Given the description of an element on the screen output the (x, y) to click on. 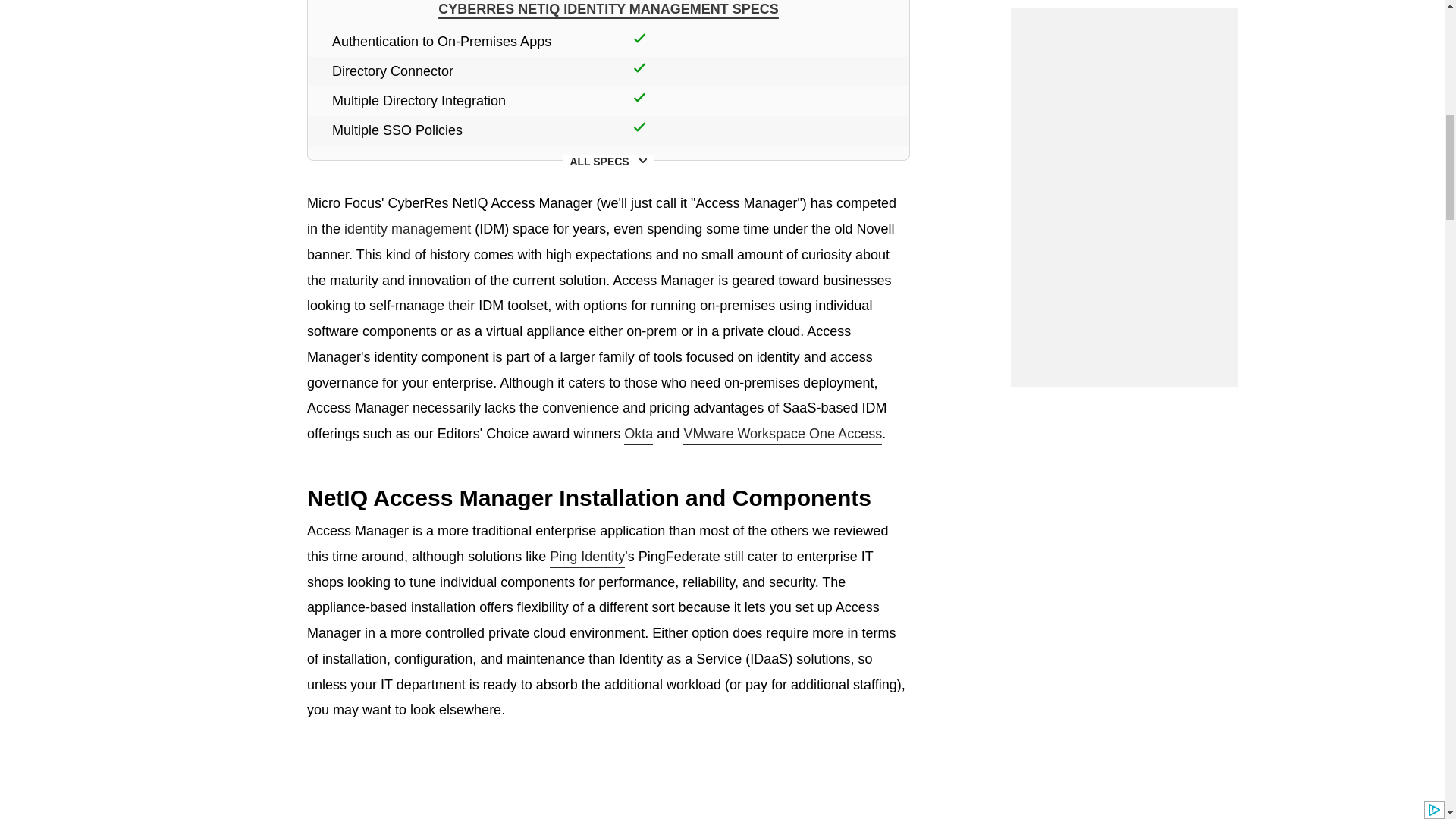
3rd party ad content (1123, 71)
